Given the description of an element on the screen output the (x, y) to click on. 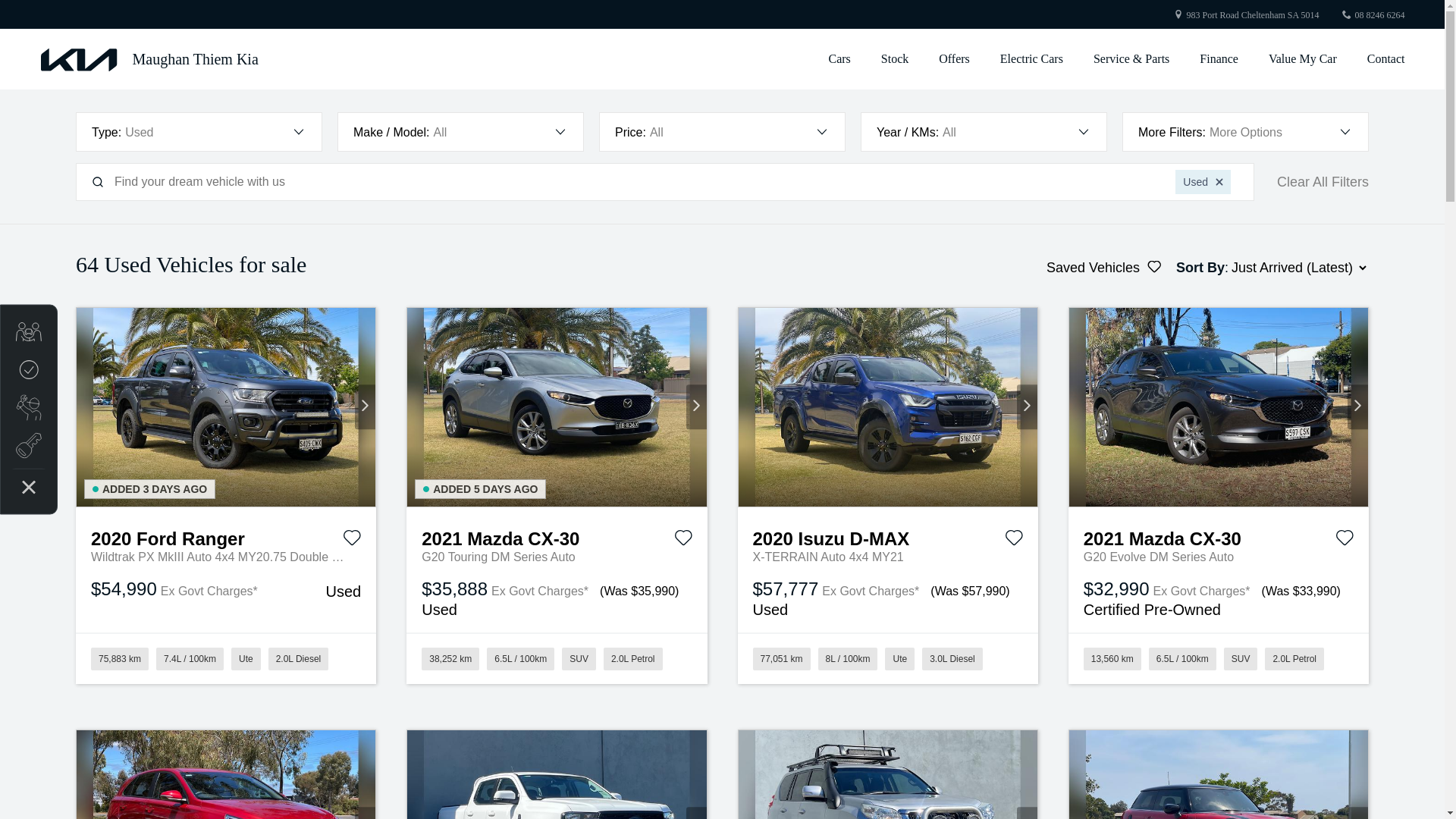
2020 Isuzu D-MAX X-TERRAIN Auto 4x4 MY21 Element type: hover (887, 407)
2021 Mazda CX-30 G20 Touring DM Series Auto Element type: hover (556, 407)
Save Vehicle Element type: hover (682, 540)
Cars Element type: text (838, 58)
Value My Car Element type: text (1302, 58)
Save Vehicle Element type: hover (351, 540)
38,252 km
6.5L / 100km
SUV
2.0L Petrol Element type: text (556, 658)
983 Port Road Cheltenham SA 5014 Element type: text (1252, 15)
2021 Mazda CX-30 G20 Evolve DM Series Auto Element type: hover (1218, 407)
Save Vehicle Element type: hover (1344, 540)
$54,990
Ex Govt Charges*
Used Element type: text (225, 590)
Service & Parts Element type: text (1131, 58)
Save Vehicle Element type: hover (1013, 540)
75,883 km
7.4L / 100km
Ute
2.0L Diesel Element type: text (225, 658)
Stock Element type: text (894, 58)
2021 Mazda CX-30
G20 Evolve DM Series Auto Element type: text (1218, 536)
Saved Vehicles Element type: text (1103, 267)
$35,888
Ex Govt Charges*
(Was $35,990)
Used Element type: text (556, 599)
77,051 km
8L / 100km
Ute
3.0L Diesel Element type: text (887, 658)
Finance Element type: text (1218, 58)
08 8246 6264 Element type: text (1379, 15)
Offers Element type: text (954, 58)
2020 Isuzu D-MAX
X-TERRAIN Auto 4x4 MY21 Element type: text (887, 536)
13,560 km
6.5L / 100km
SUV
2.0L Petrol Element type: text (1218, 658)
Contact Element type: text (1378, 58)
$32,990
Ex Govt Charges*
(Was $33,990)
Certified Pre-Owned Element type: text (1218, 599)
2021 Mazda CX-30
G20 Touring DM Series Auto Element type: text (556, 536)
$57,777
Ex Govt Charges*
(Was $57,990)
Used Element type: text (887, 599)
Clear All Filters Element type: text (1322, 182)
Electric Cars Element type: text (1031, 58)
Maughan Thiem Kia Element type: text (148, 59)
